Given the description of an element on the screen output the (x, y) to click on. 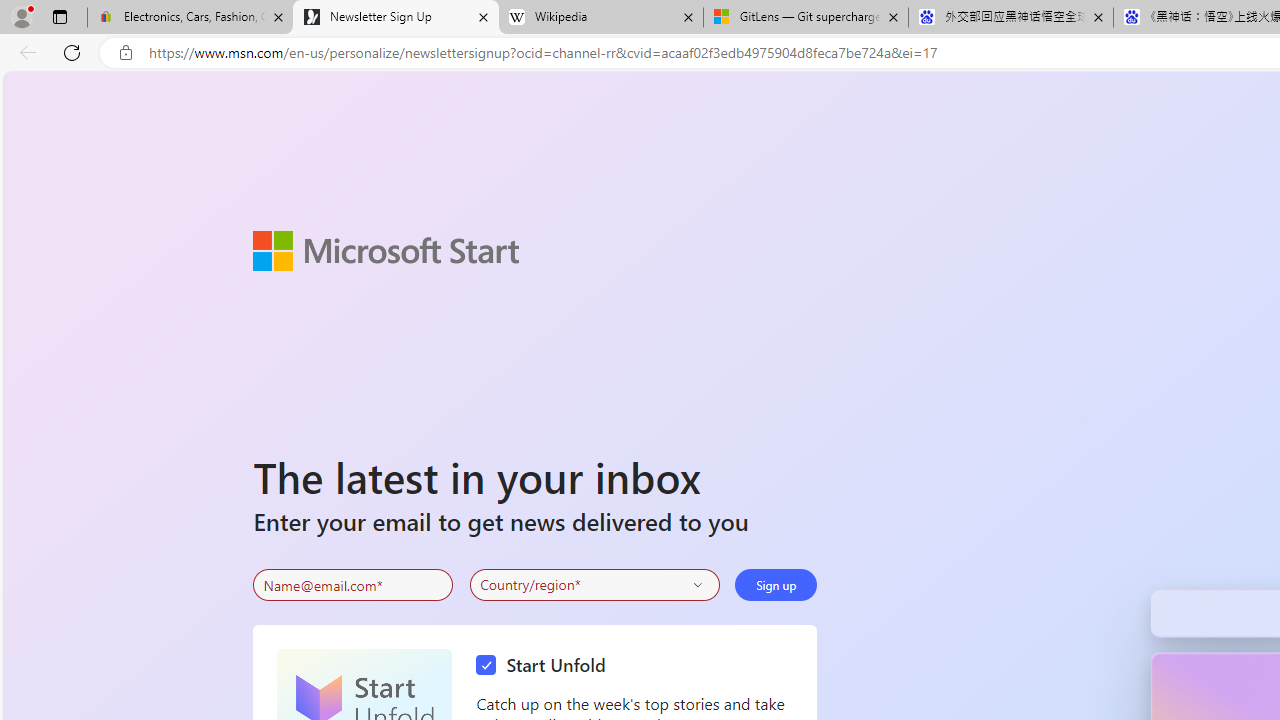
Electronics, Cars, Fashion, Collectibles & More | eBay (190, 17)
Wikipedia (600, 17)
Newsletter Sign Up (395, 17)
Select your country (594, 584)
Enter your email (353, 585)
Sign up (775, 584)
Start Unfold (545, 665)
